Given the description of an element on the screen output the (x, y) to click on. 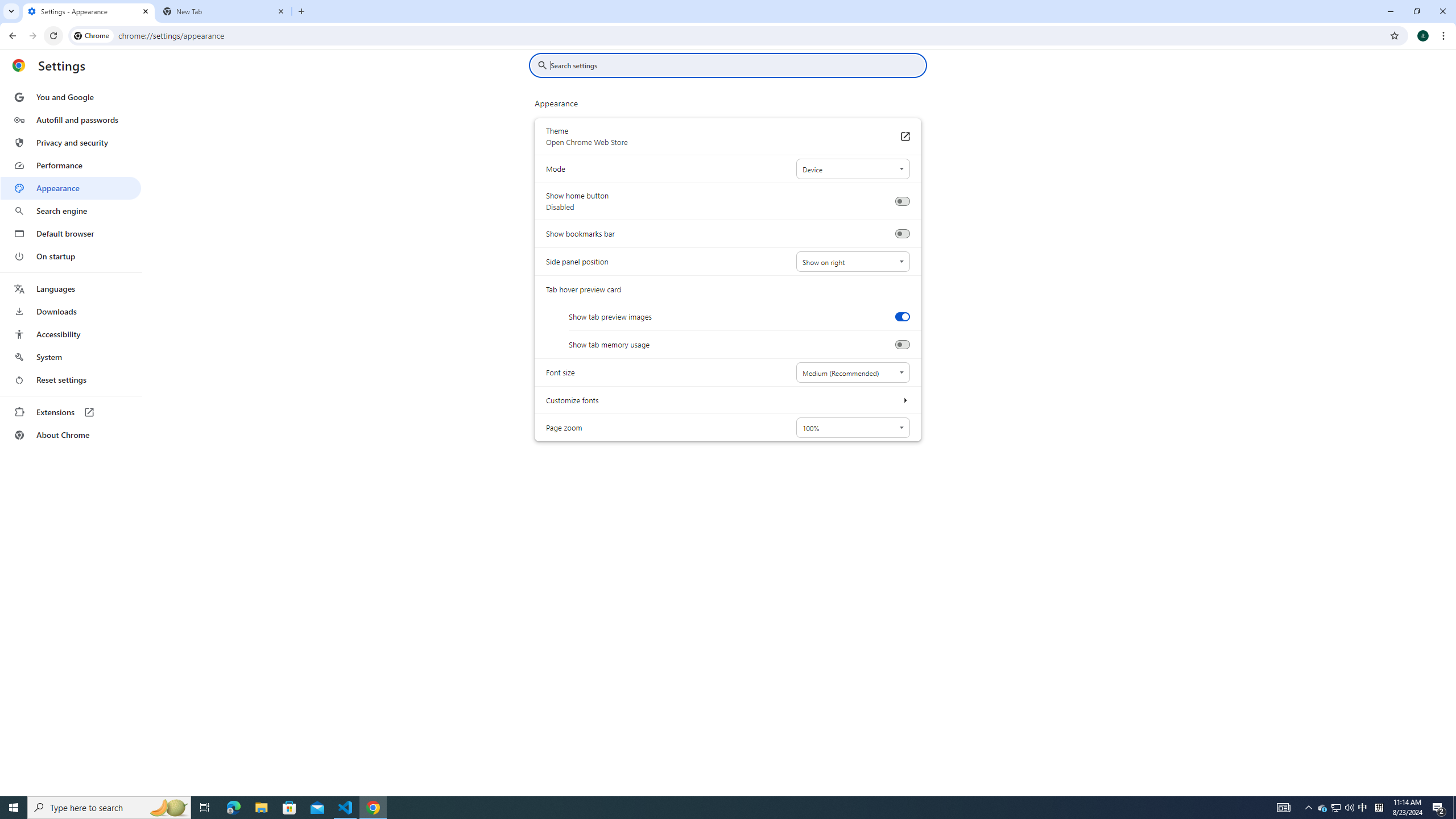
AutomationID: menu (71, 265)
Restore (1416, 11)
Performance (70, 164)
System (6, 6)
On startup (70, 255)
Side panel position (852, 261)
You and Google (70, 96)
Appearance (70, 187)
Privacy and security (70, 142)
Languages (70, 288)
Reload (52, 35)
System (6, 6)
Show bookmarks bar (901, 234)
Settings - Appearance (88, 11)
